Given the description of an element on the screen output the (x, y) to click on. 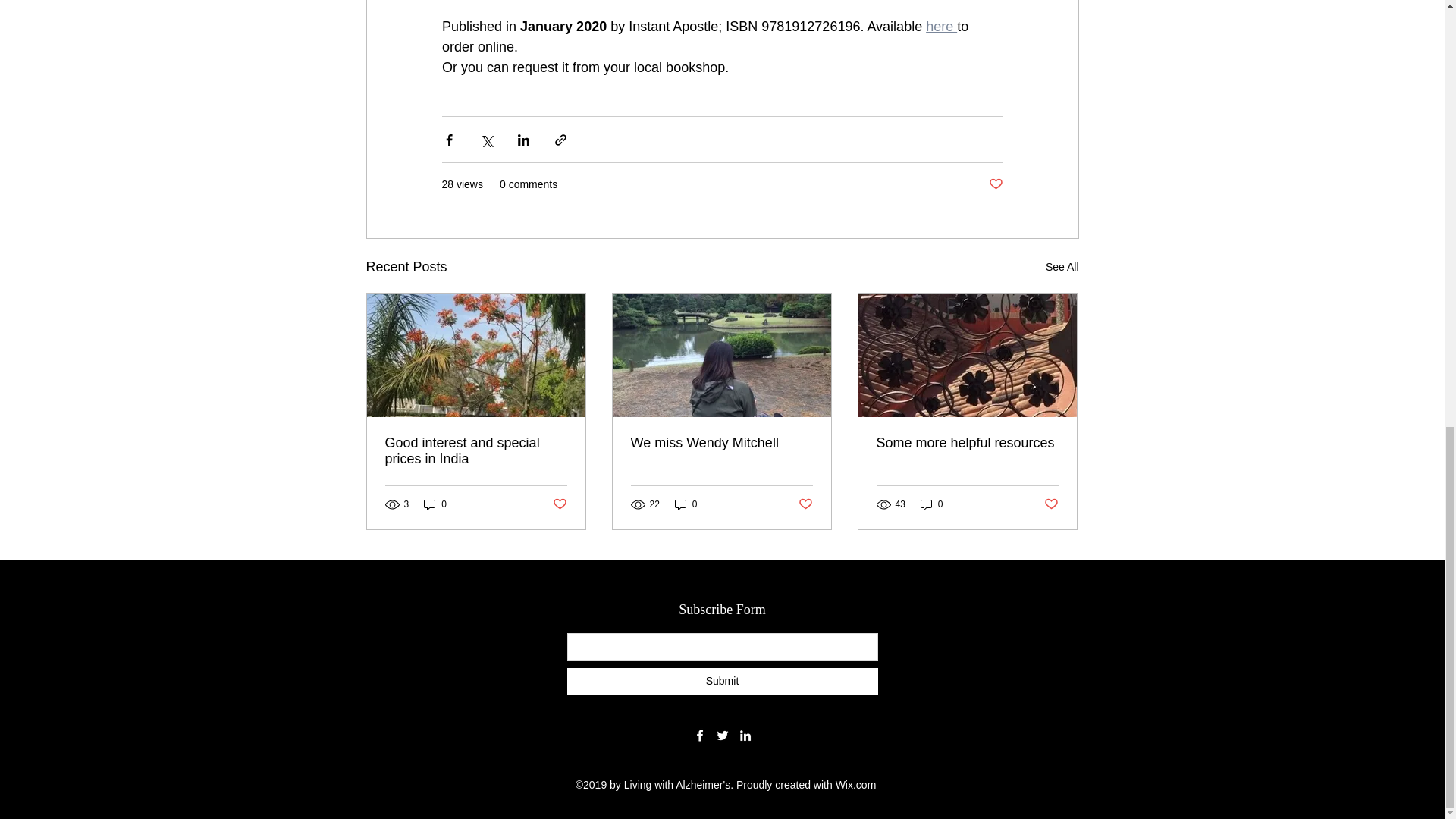
Good interest and special prices in India (476, 450)
We miss Wendy Mitchell (721, 442)
Submit (722, 681)
Post not marked as liked (995, 184)
0 (931, 504)
0 (685, 504)
0 (435, 504)
Post not marked as liked (804, 504)
Post not marked as liked (558, 504)
See All (1061, 267)
